Given the description of an element on the screen output the (x, y) to click on. 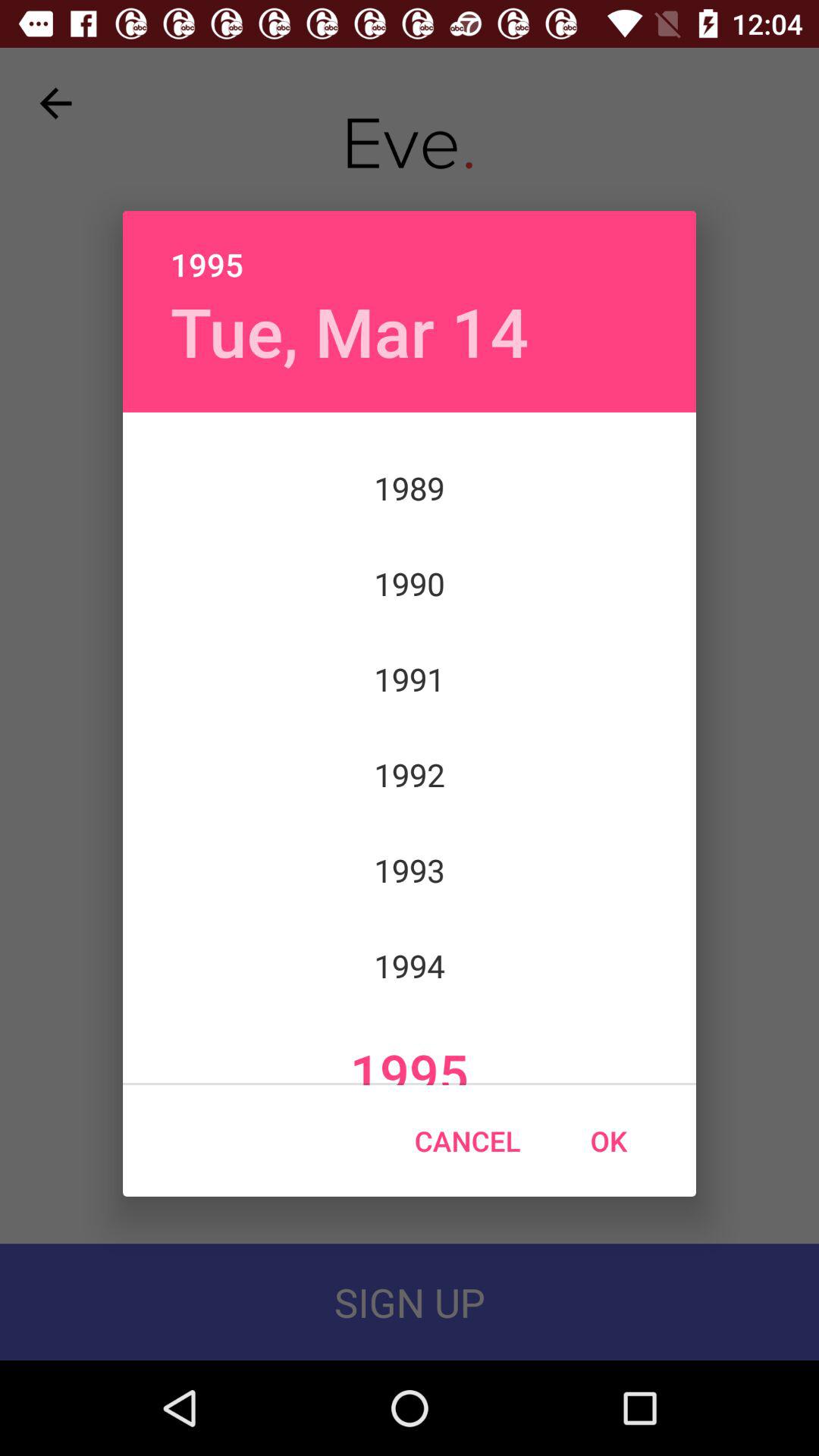
launch icon next to the cancel icon (608, 1140)
